Given the description of an element on the screen output the (x, y) to click on. 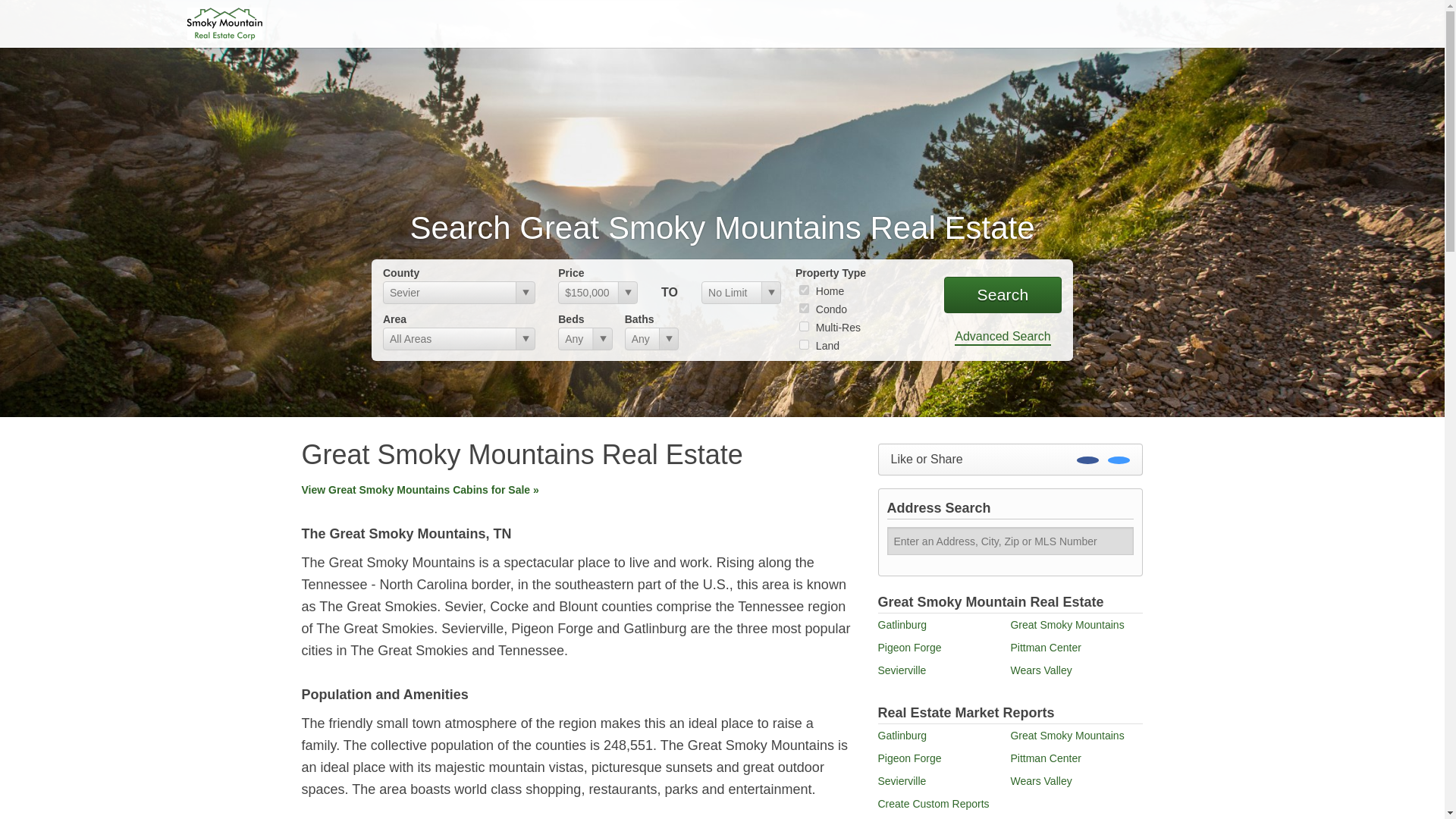
lnd (804, 344)
Advanced Search (1002, 337)
Like or Share (1009, 459)
Search (1002, 294)
Pigeon Forge (909, 647)
mul (804, 326)
con (804, 307)
Gatlinburg (902, 624)
Gatlinburgcabininvestments.com (224, 23)
res (804, 289)
